Given the description of an element on the screen output the (x, y) to click on. 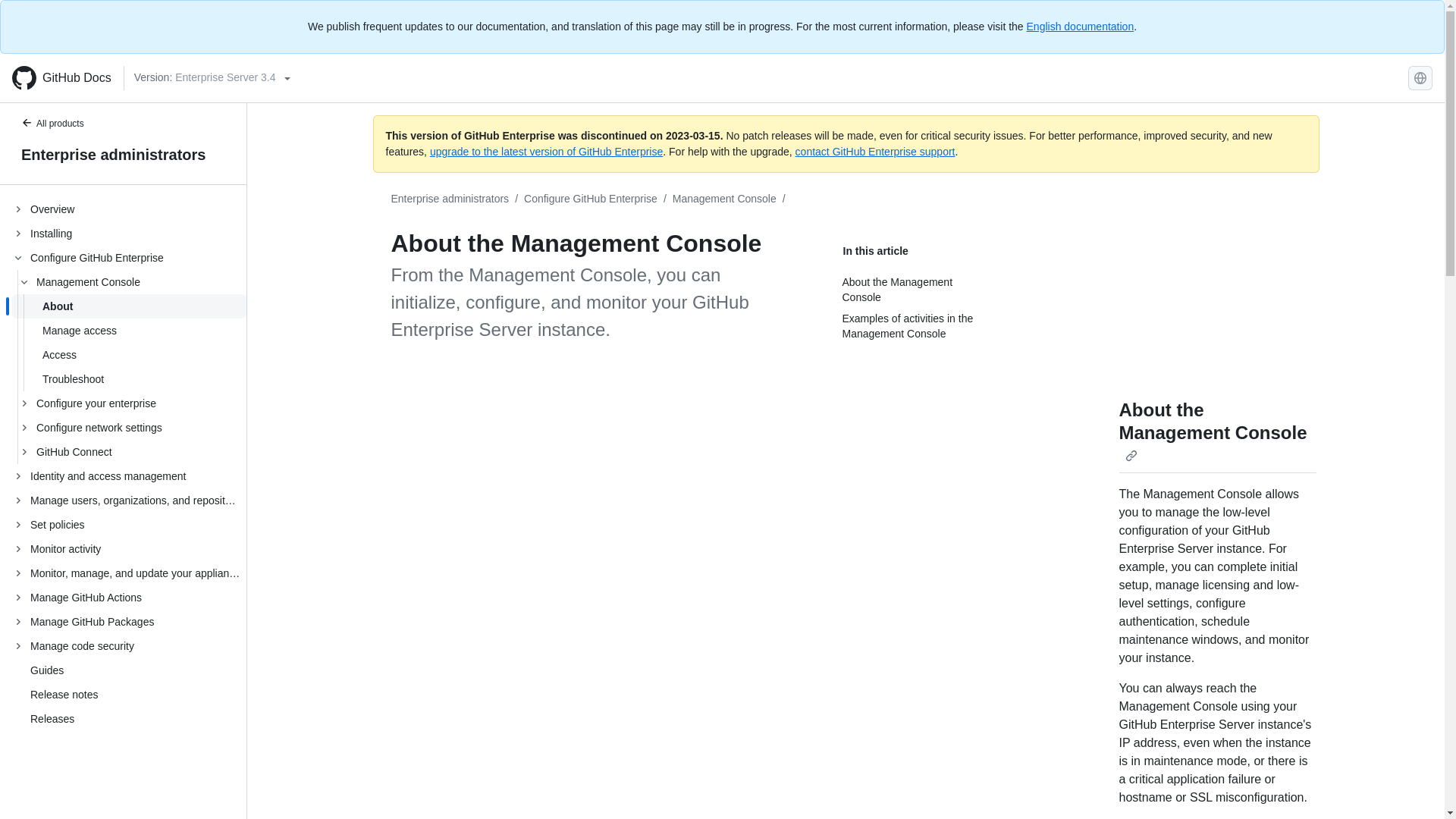
Configure GitHub Enterprise (591, 198)
Guides (47, 670)
Enterprise administrators (122, 154)
Access (128, 354)
Configure GitHub Enterprise (591, 198)
English documentation (1080, 26)
contact GitHub Enterprise support (874, 151)
Examples of activities in the Management Console (916, 325)
About the Management Console (916, 289)
Enterprise administrators (450, 198)
